Given the description of an element on the screen output the (x, y) to click on. 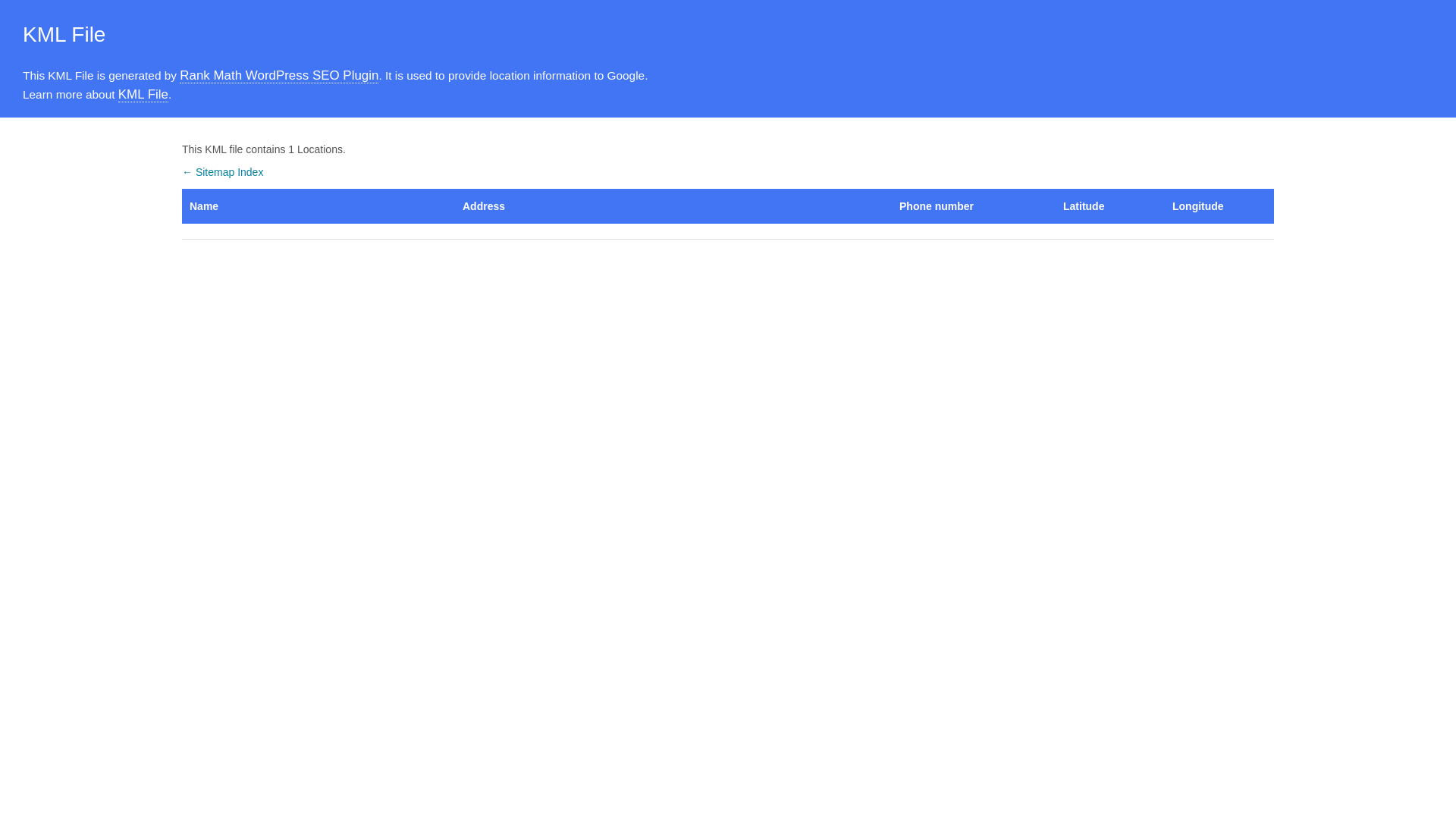
KML File Element type: text (143, 94)
Rank Math WordPress SEO Plugin Element type: text (278, 75)
